Given the description of an element on the screen output the (x, y) to click on. 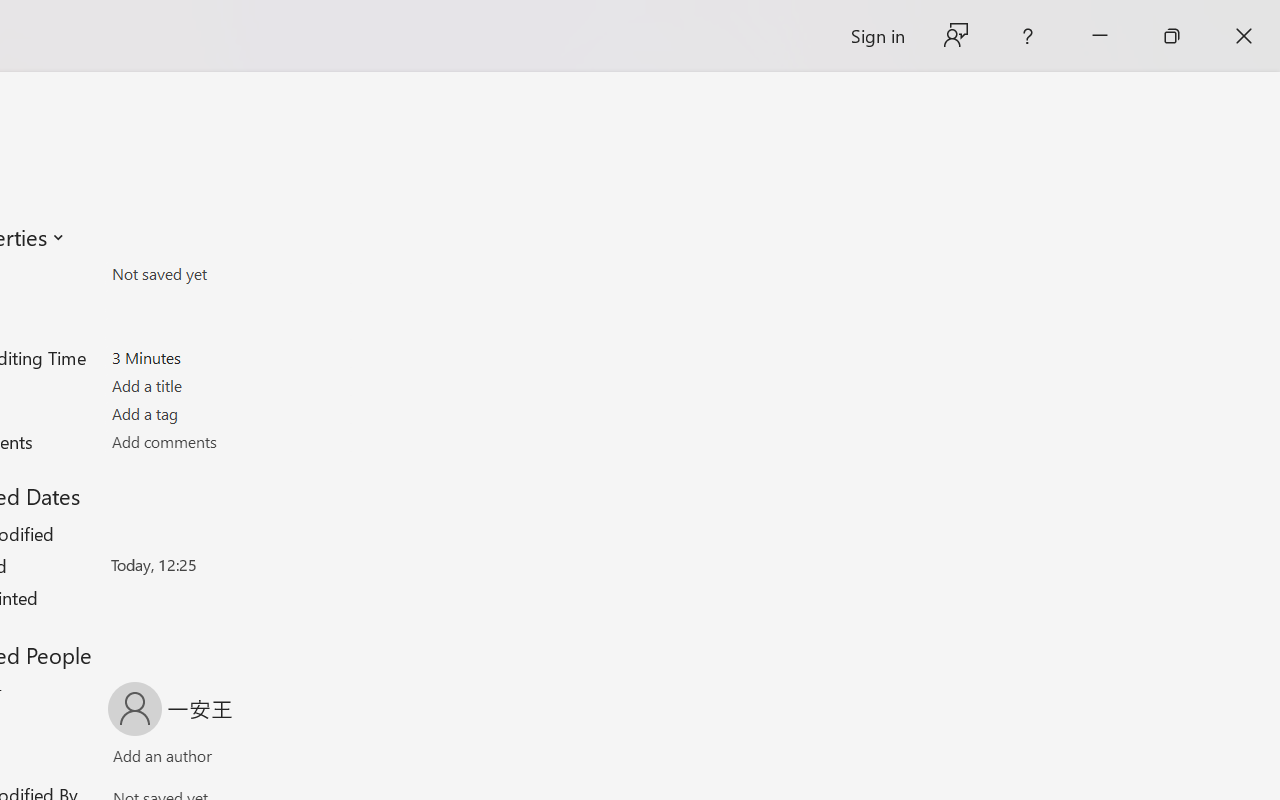
Size (228, 274)
